Given the description of an element on the screen output the (x, y) to click on. 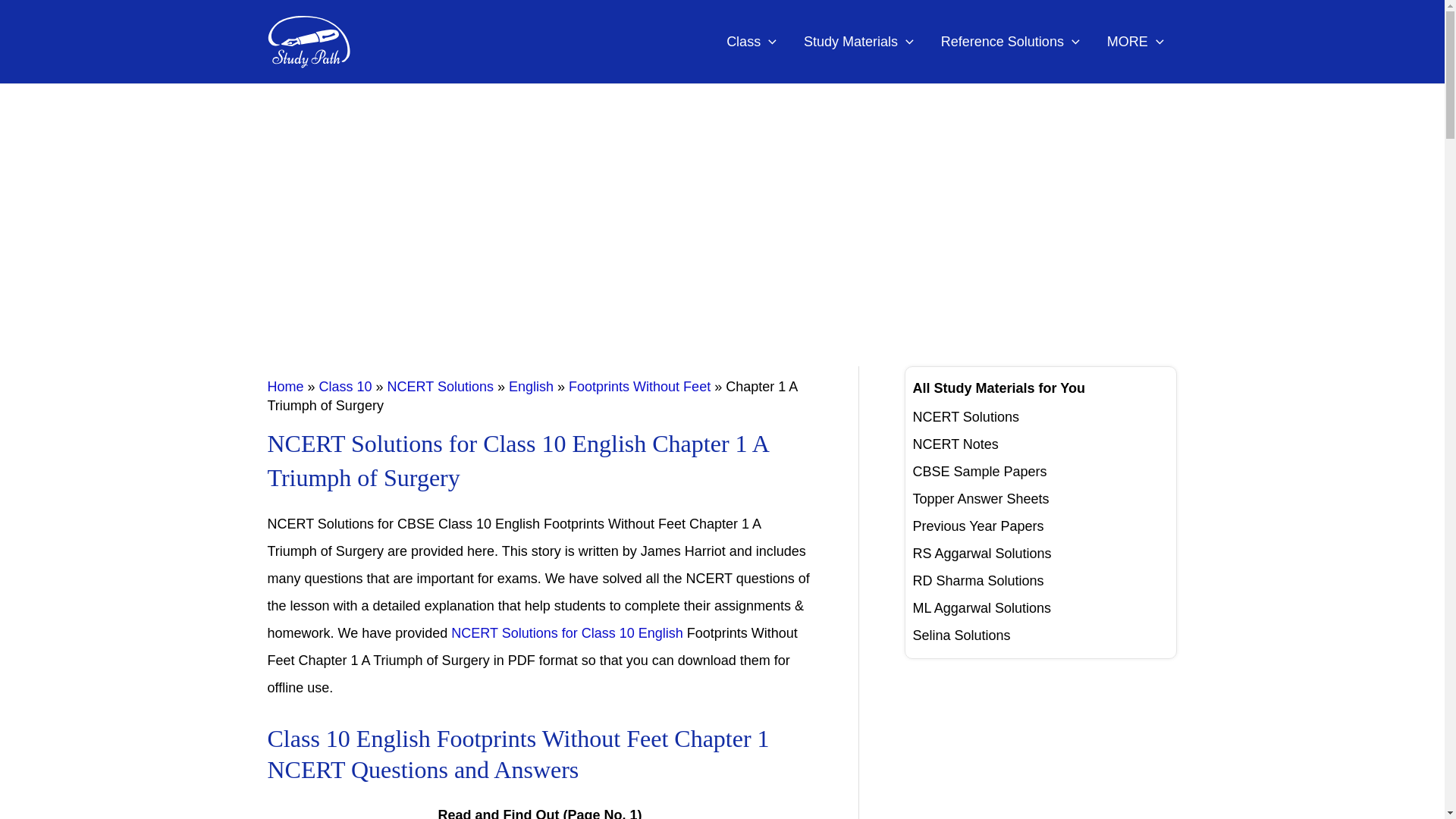
Reference Solutions (1010, 41)
MORE (1135, 41)
Class (751, 41)
Study Materials (858, 41)
